Given the description of an element on the screen output the (x, y) to click on. 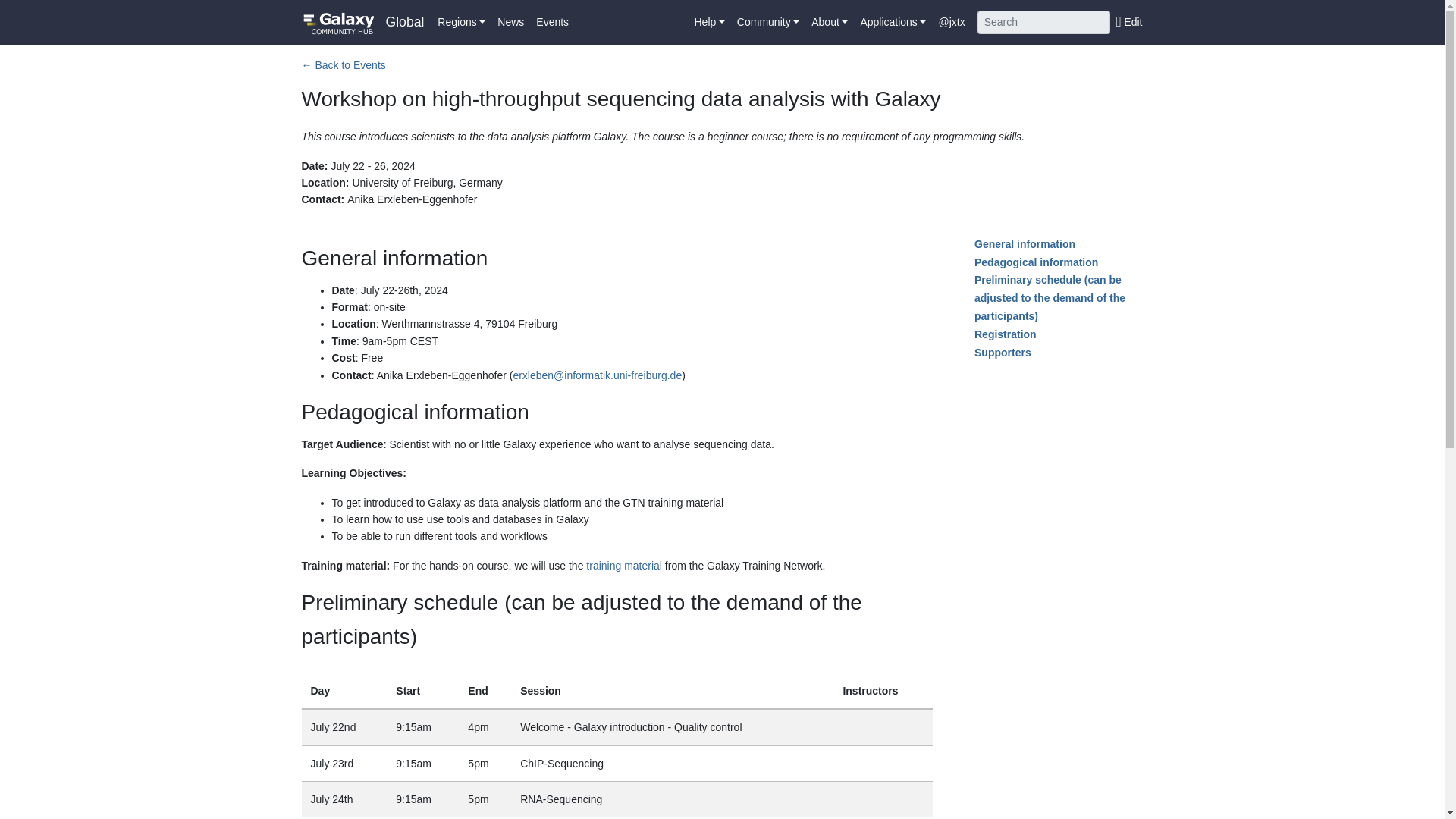
Events (552, 21)
Applications (892, 21)
Global (404, 22)
Help (709, 21)
About (829, 21)
Regions (461, 21)
News (510, 21)
Community (767, 21)
